Given the description of an element on the screen output the (x, y) to click on. 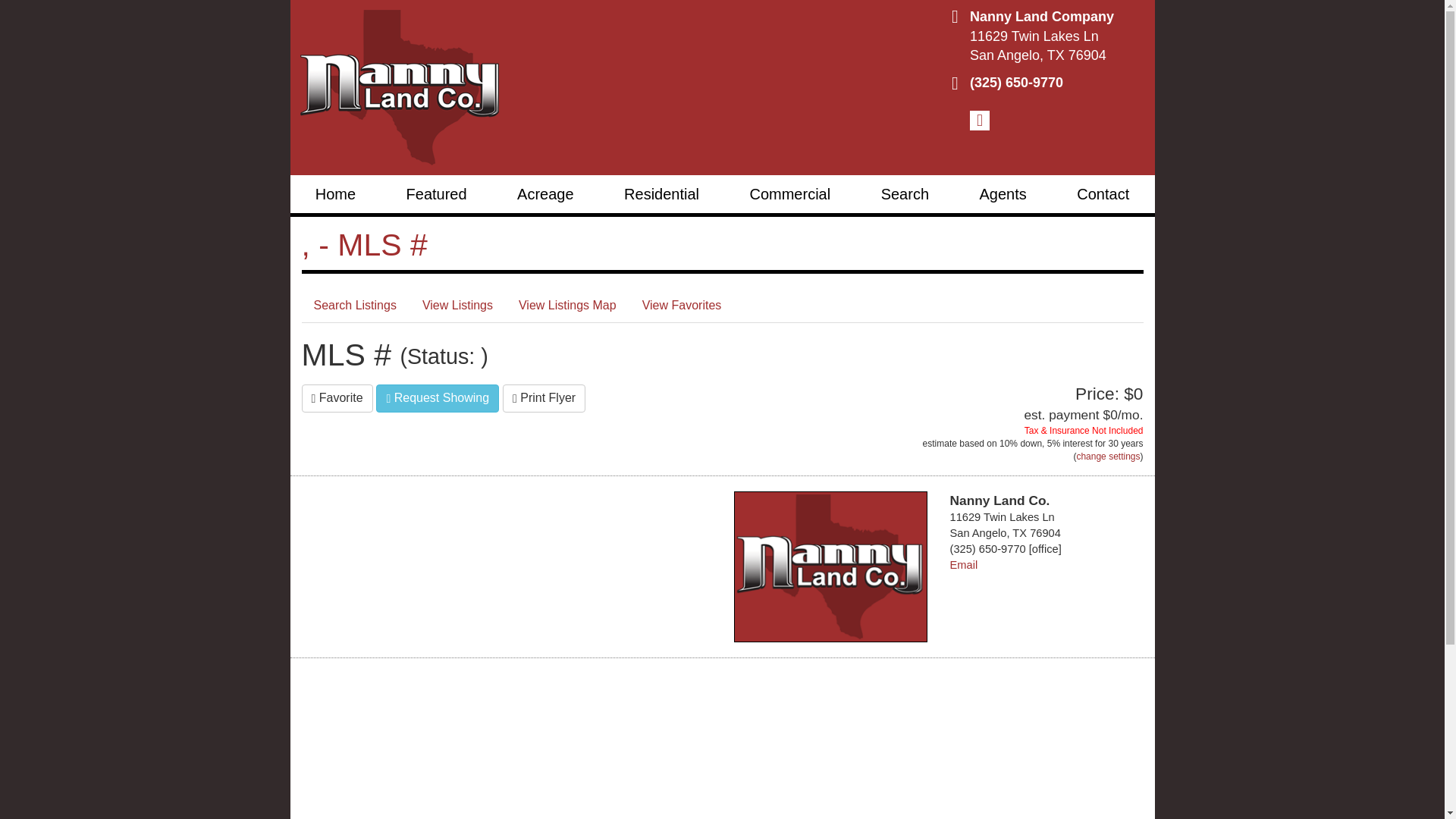
Featured (436, 193)
Request Showing (437, 398)
Search (904, 193)
View Favorites (681, 305)
Agents (1002, 193)
View Listings (457, 305)
Search (904, 193)
Acreage (545, 193)
Home (334, 193)
Residential (660, 193)
change settings (1107, 456)
View Listings Map (567, 305)
Search Listings (355, 305)
Contact (1102, 193)
Commercial (789, 193)
